Given the description of an element on the screen output the (x, y) to click on. 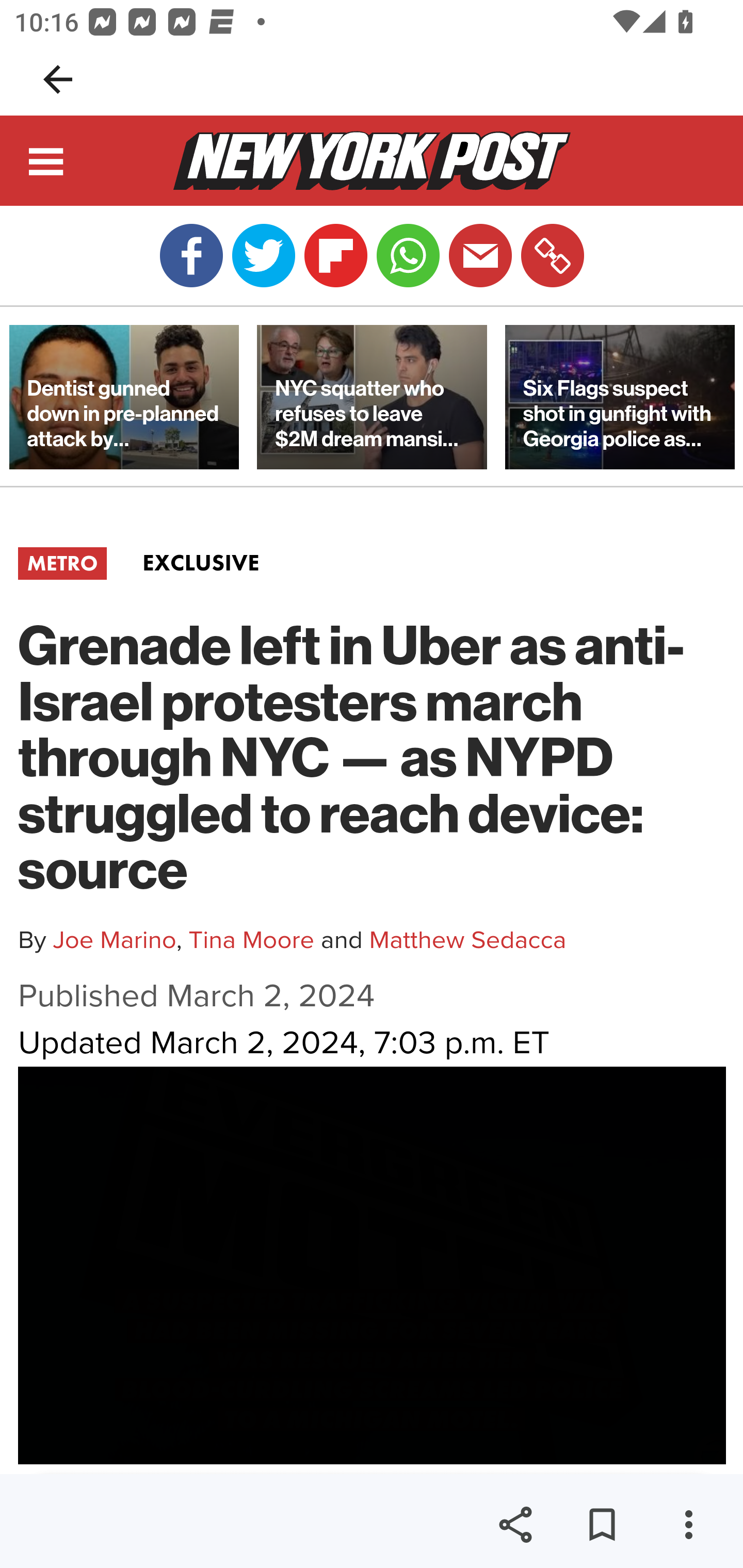
Navigate up (57, 79)
nypost (371, 160)
navigation menu (46, 164)
Click to share on Facebook (191, 256)
Click to share on Twitter (263, 256)
Click to share on Flipboard (335, 256)
Click to share on Whatsapp (407, 256)
Click to email a link to a friend (480, 256)
Click to copy URL (552, 256)
METRO (61, 562)
Joe Marino (114, 939)
Tina Moore (251, 939)
Matthew Sedacca (467, 939)
Share (514, 1524)
Save for later (601, 1524)
More options (688, 1524)
